Given the description of an element on the screen output the (x, y) to click on. 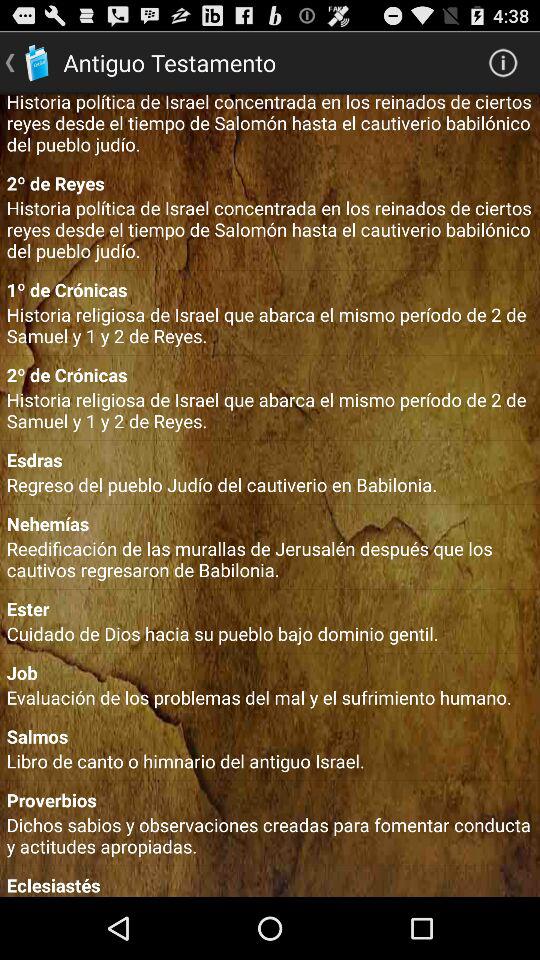
select item below the libro de canto app (269, 799)
